Given the description of an element on the screen output the (x, y) to click on. 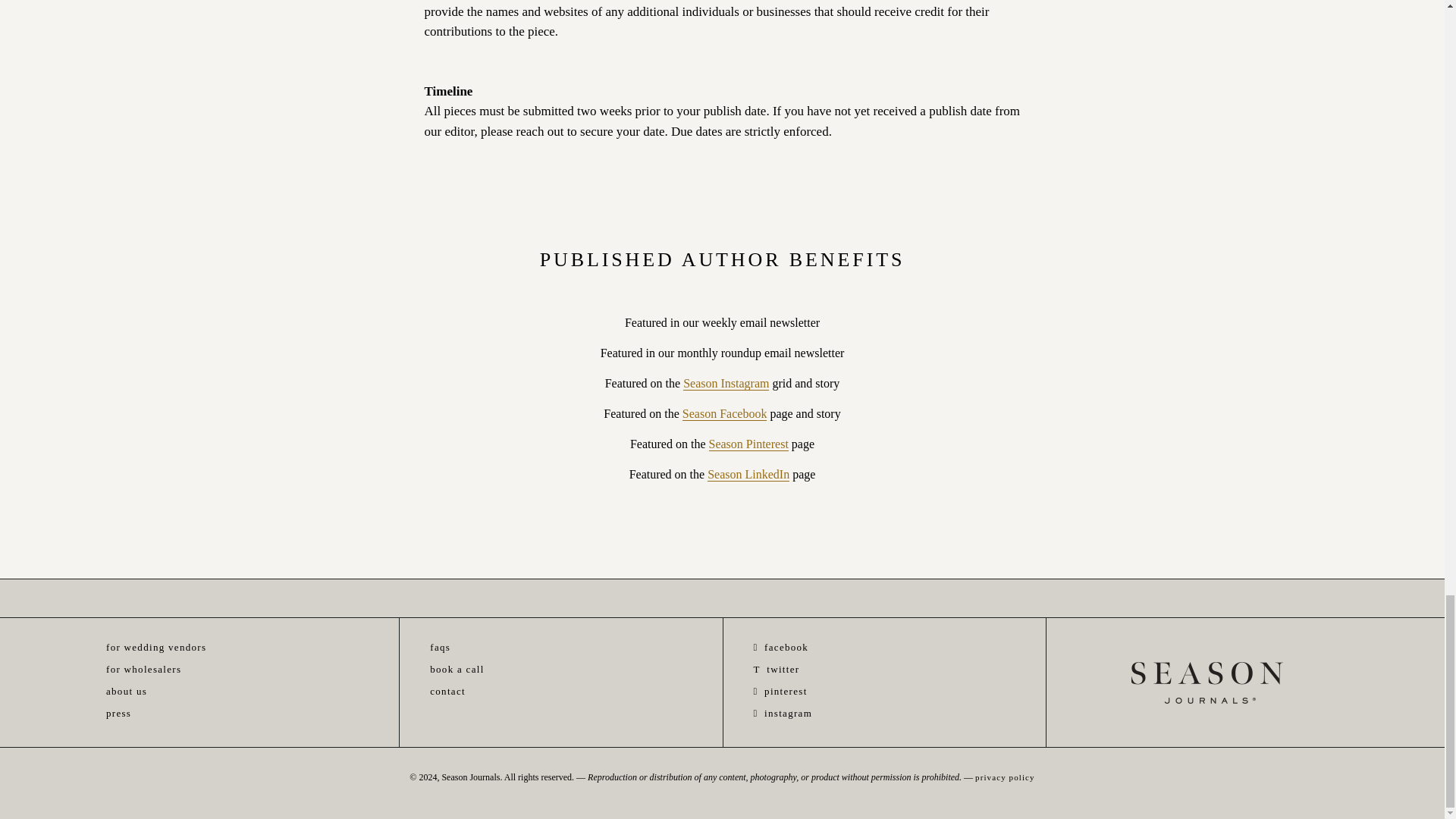
Season Journals on Facebook (781, 646)
Season Journals on Twitter (776, 668)
Season Journals on Instagram (783, 713)
Season Journals on Pinterest (781, 690)
